Given the description of an element on the screen output the (x, y) to click on. 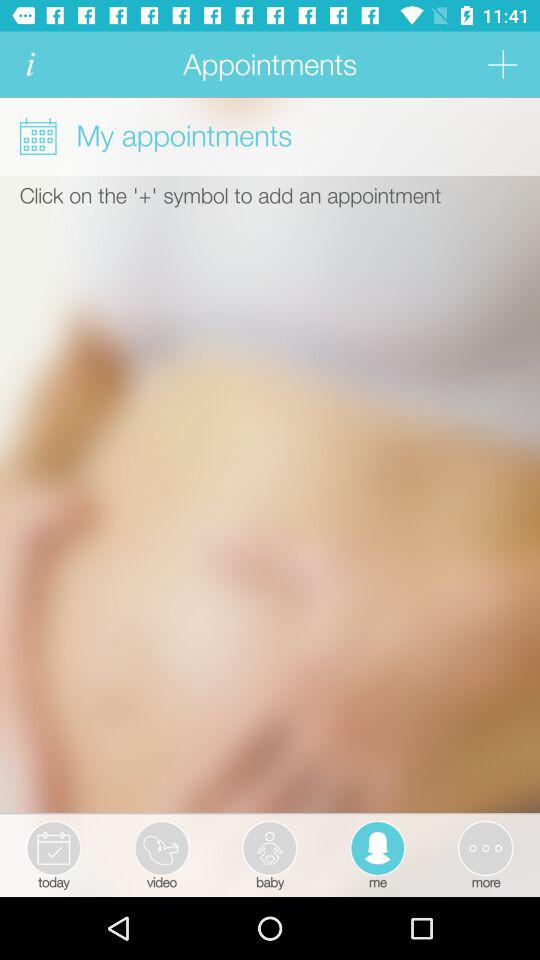
get more information (30, 63)
